Given the description of an element on the screen output the (x, y) to click on. 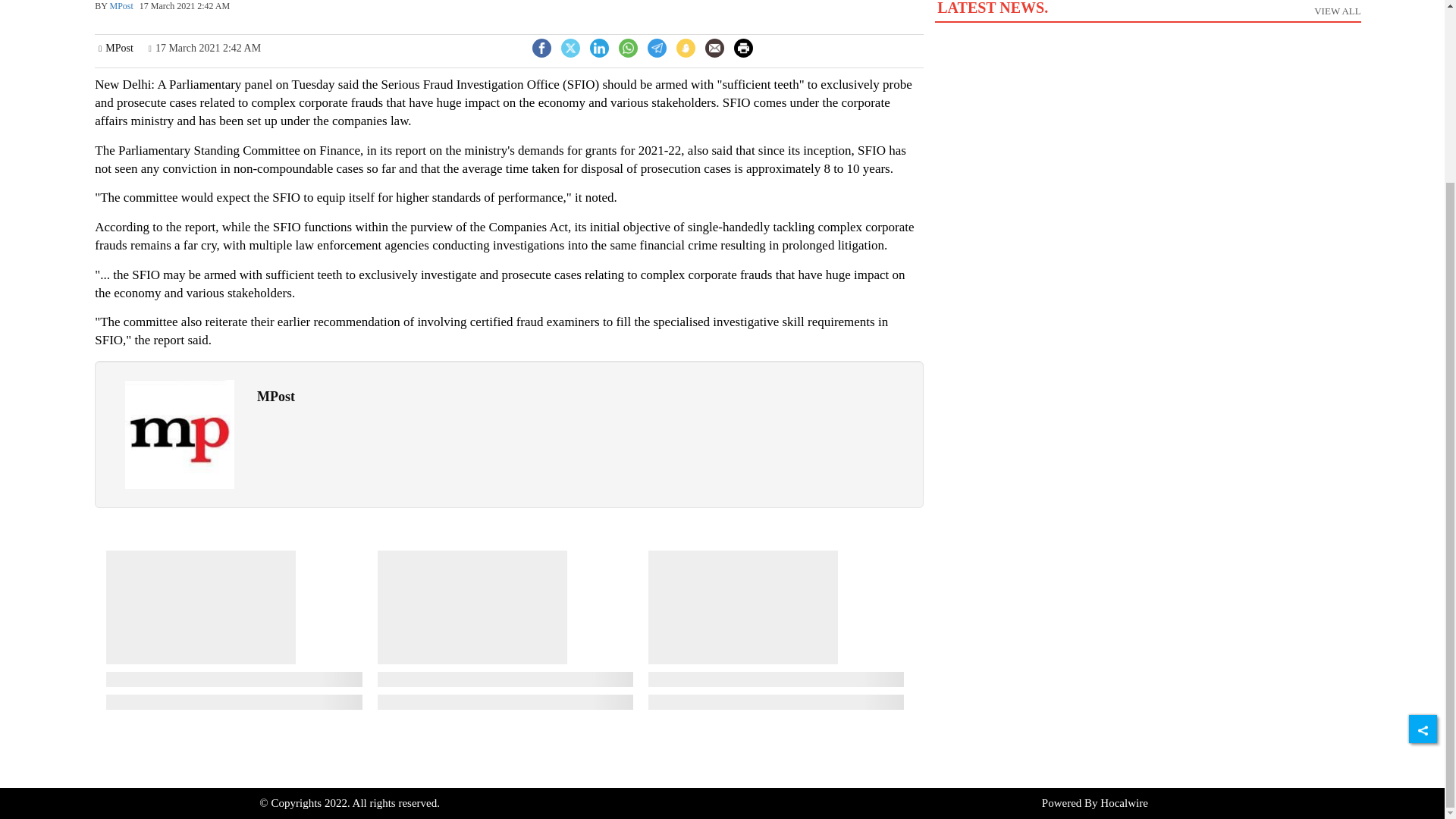
LinkedIn (598, 46)
facebook (541, 48)
koo (685, 48)
twitter (570, 48)
MPost (179, 434)
Twitter (569, 46)
Email (1146, 22)
linkedin (713, 47)
Facebook (599, 48)
whatsapp (541, 46)
print (628, 48)
Share by Email (743, 48)
telegram (713, 50)
Print (656, 48)
